Given the description of an element on the screen output the (x, y) to click on. 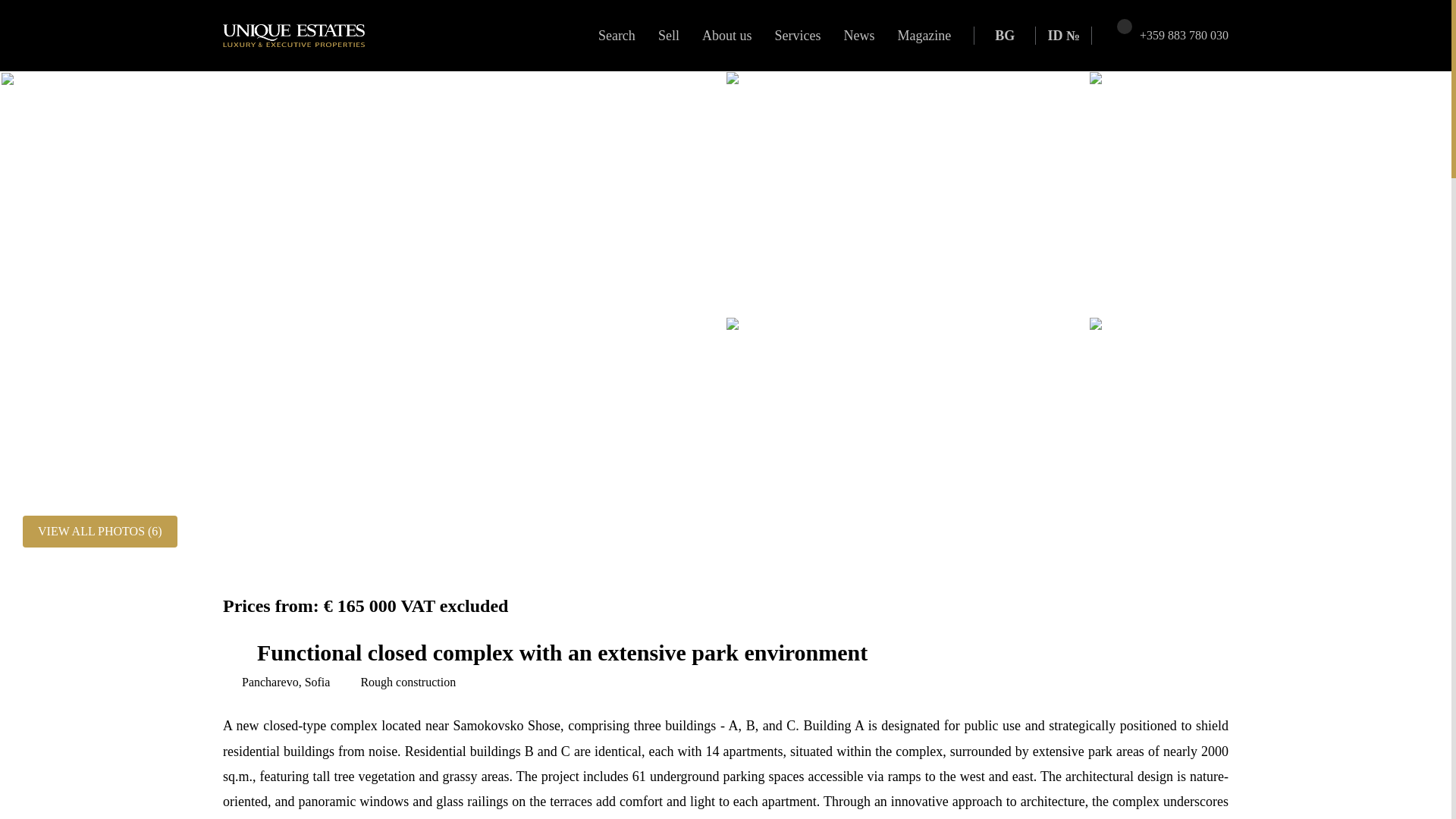
Share on LinkedIn (1210, 606)
Search (616, 35)
Add to favourites (234, 652)
Search offer by Ref.ID (1062, 35)
Share on Twitter (1168, 606)
Call us (1184, 34)
Luxury Real Estate and Executive Properties (293, 35)
Sell (668, 35)
Share on Facebook (1125, 606)
My Favourites (1115, 35)
